Given the description of an element on the screen output the (x, y) to click on. 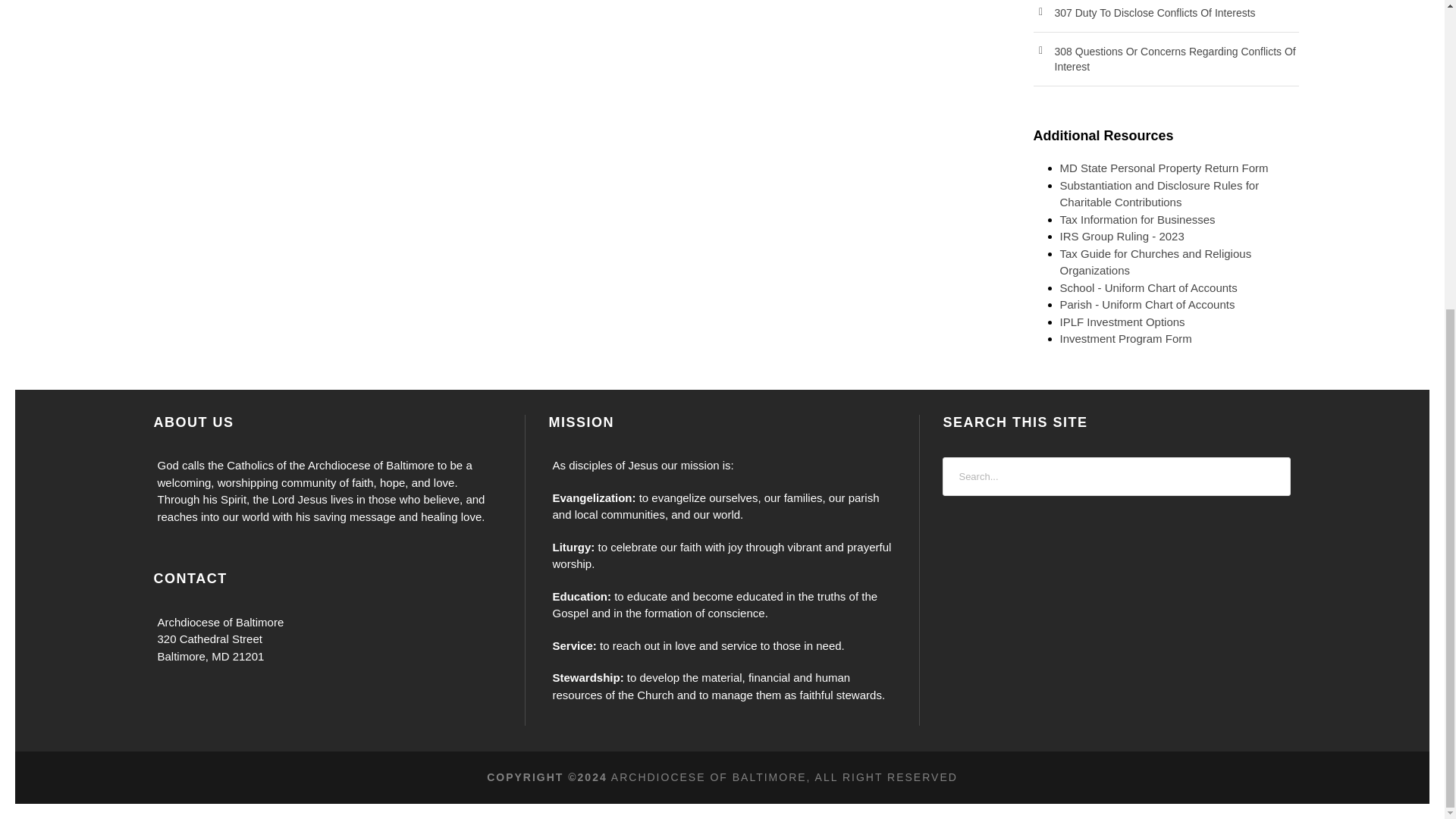
308 Questions Or Concerns Regarding Conflicts Of Interest (1174, 58)
307 Duty To Disclose Conflicts Of Interests (1154, 12)
Tax Information for Businesses (1137, 219)
MD State Personal Property Return-2016 (1163, 167)
